Given the description of an element on the screen output the (x, y) to click on. 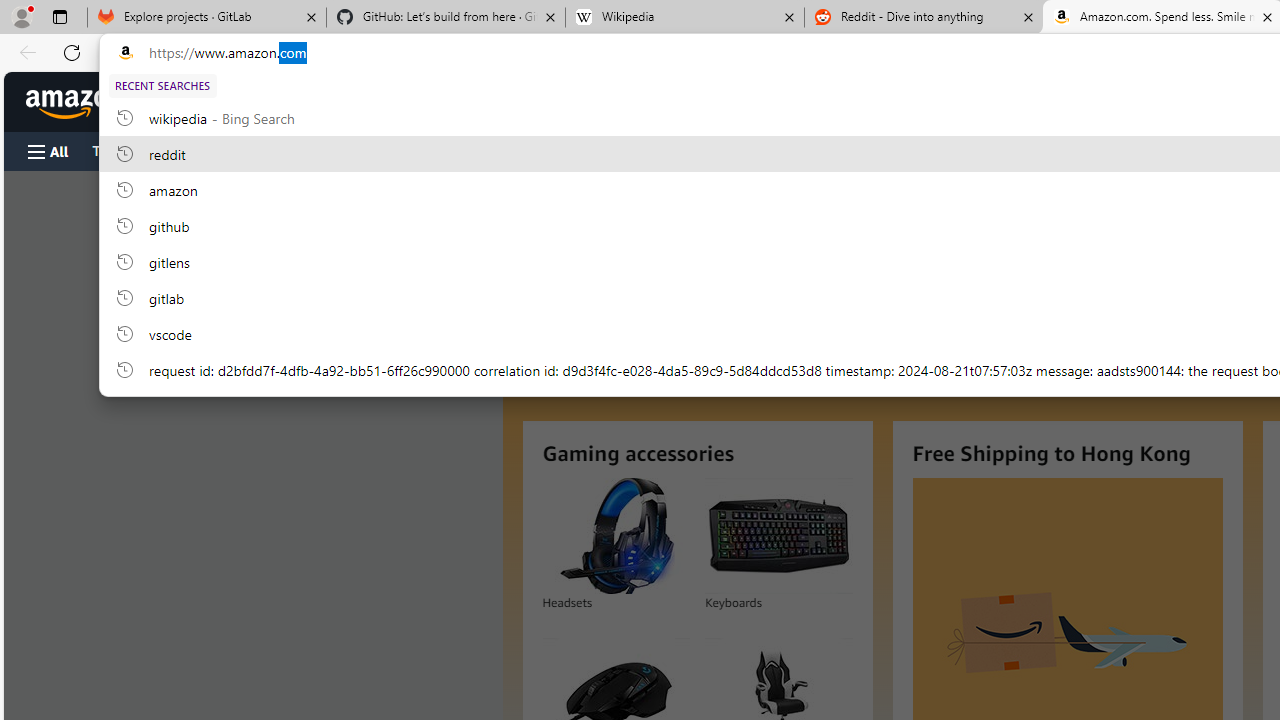
Keyboards (778, 536)
View site information (125, 53)
Skip to main content (86, 100)
Customer Service (256, 150)
Today's Deals (134, 150)
Search in (371, 102)
Previous slide (544, 296)
Amazon (76, 101)
Headsets (616, 536)
Open Menu (48, 151)
Back (24, 52)
Refresh (72, 52)
Reddit - Dive into anything (924, 17)
Registry (360, 150)
Submit (499, 214)
